Given the description of an element on the screen output the (x, y) to click on. 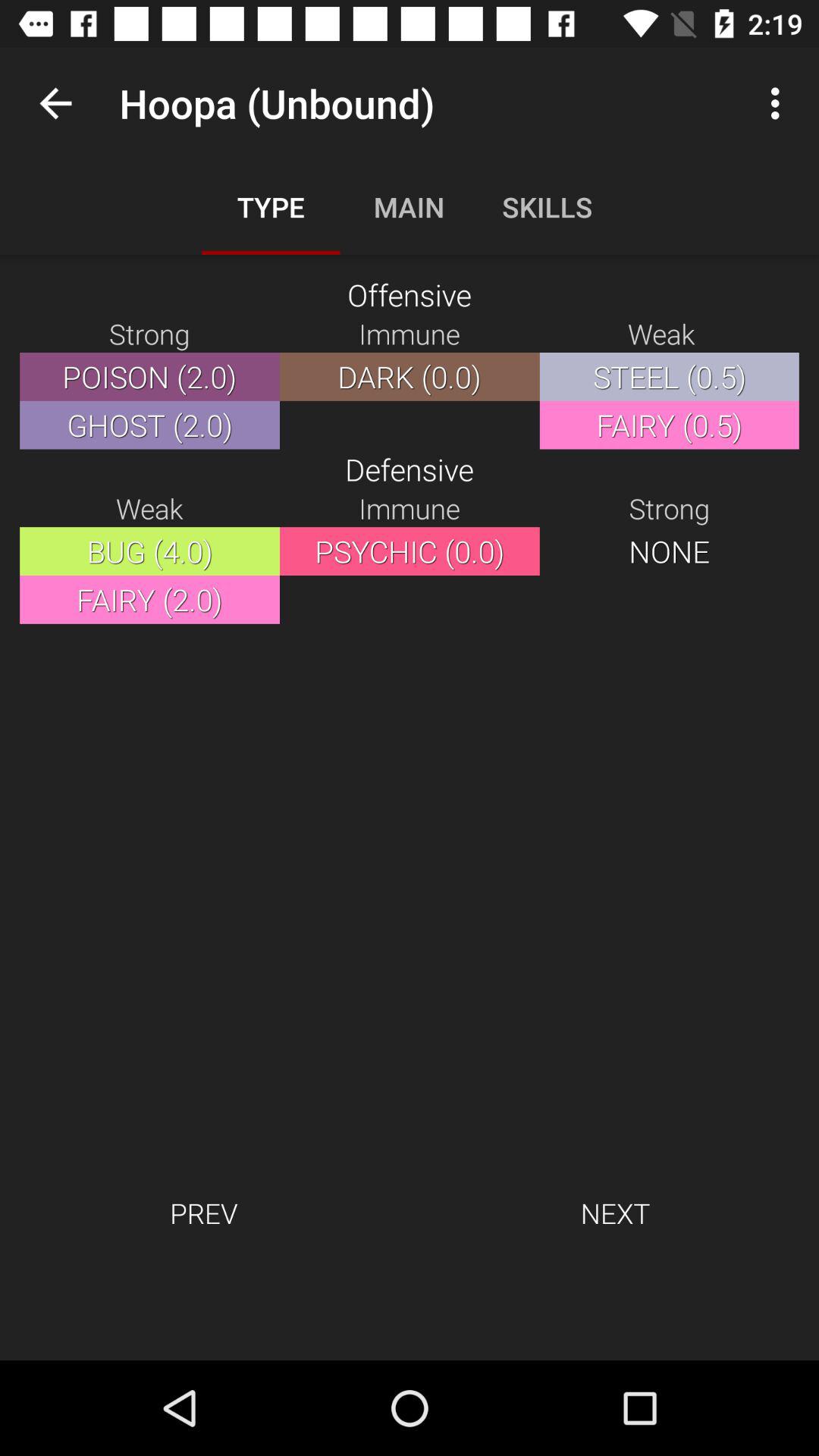
turn off the icon to the right of the prev icon (615, 1212)
